Given the description of an element on the screen output the (x, y) to click on. 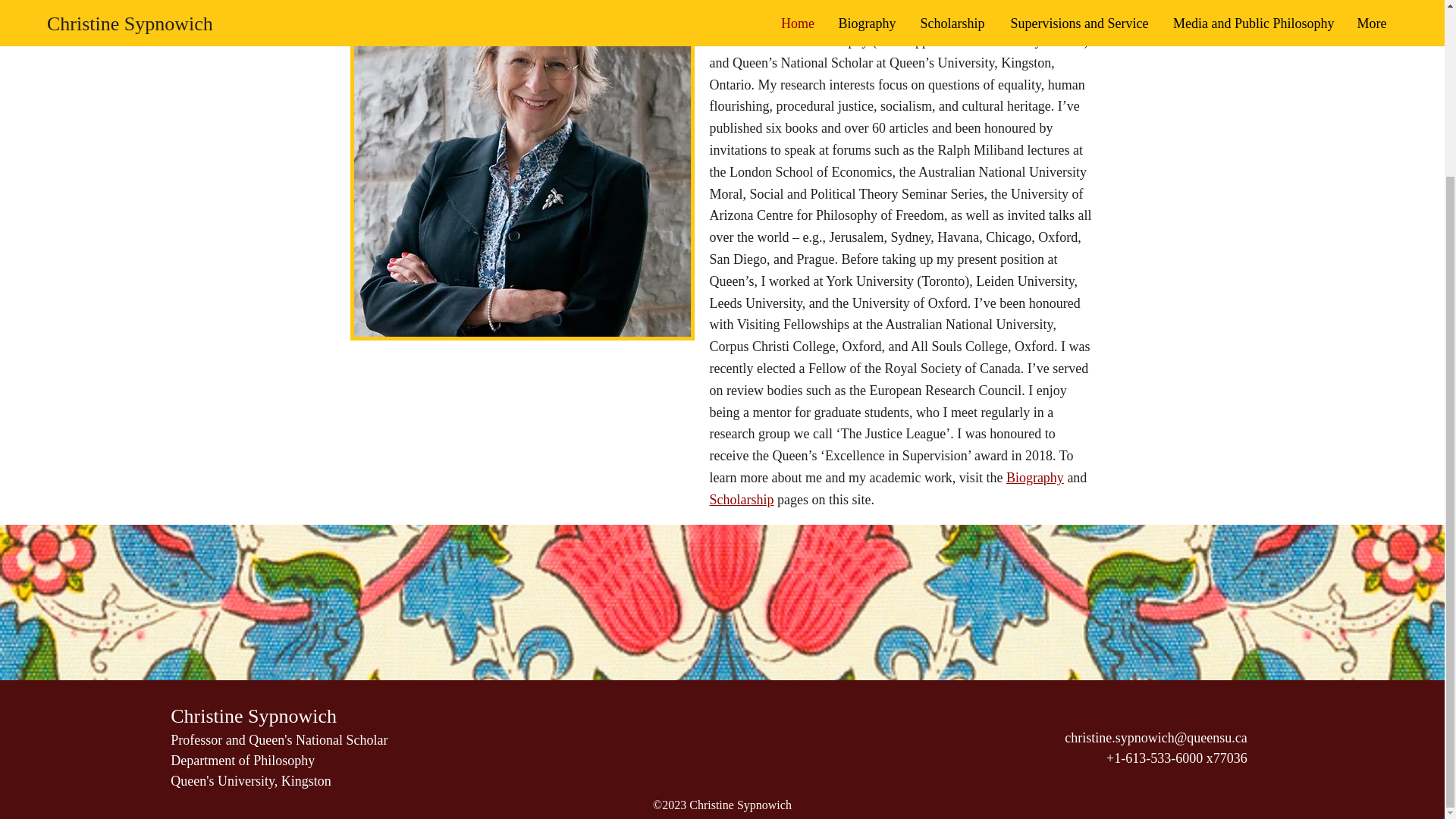
Biography (1035, 477)
Scholarship (742, 499)
